Given the description of an element on the screen output the (x, y) to click on. 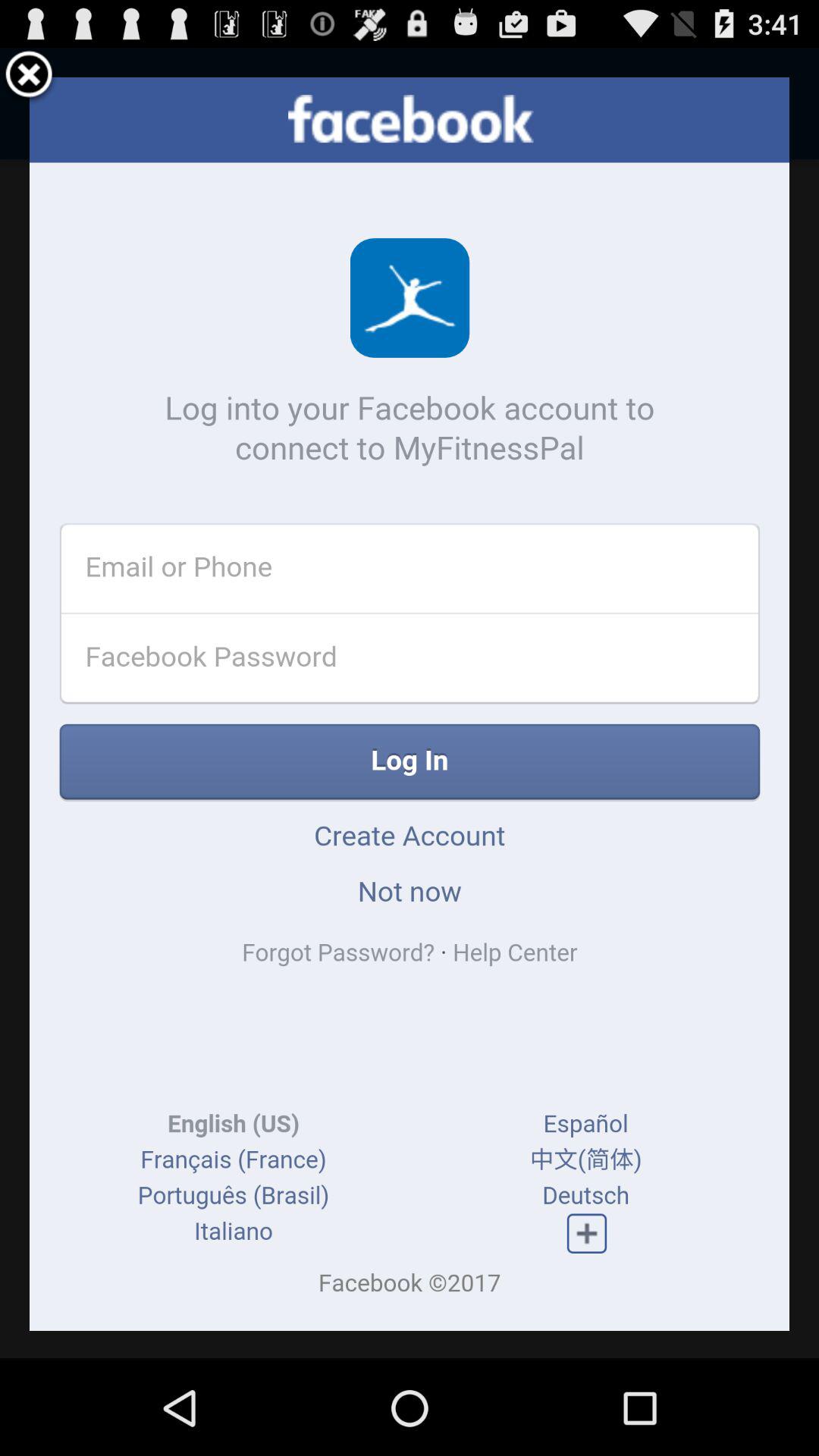
close page (29, 76)
